Given the description of an element on the screen output the (x, y) to click on. 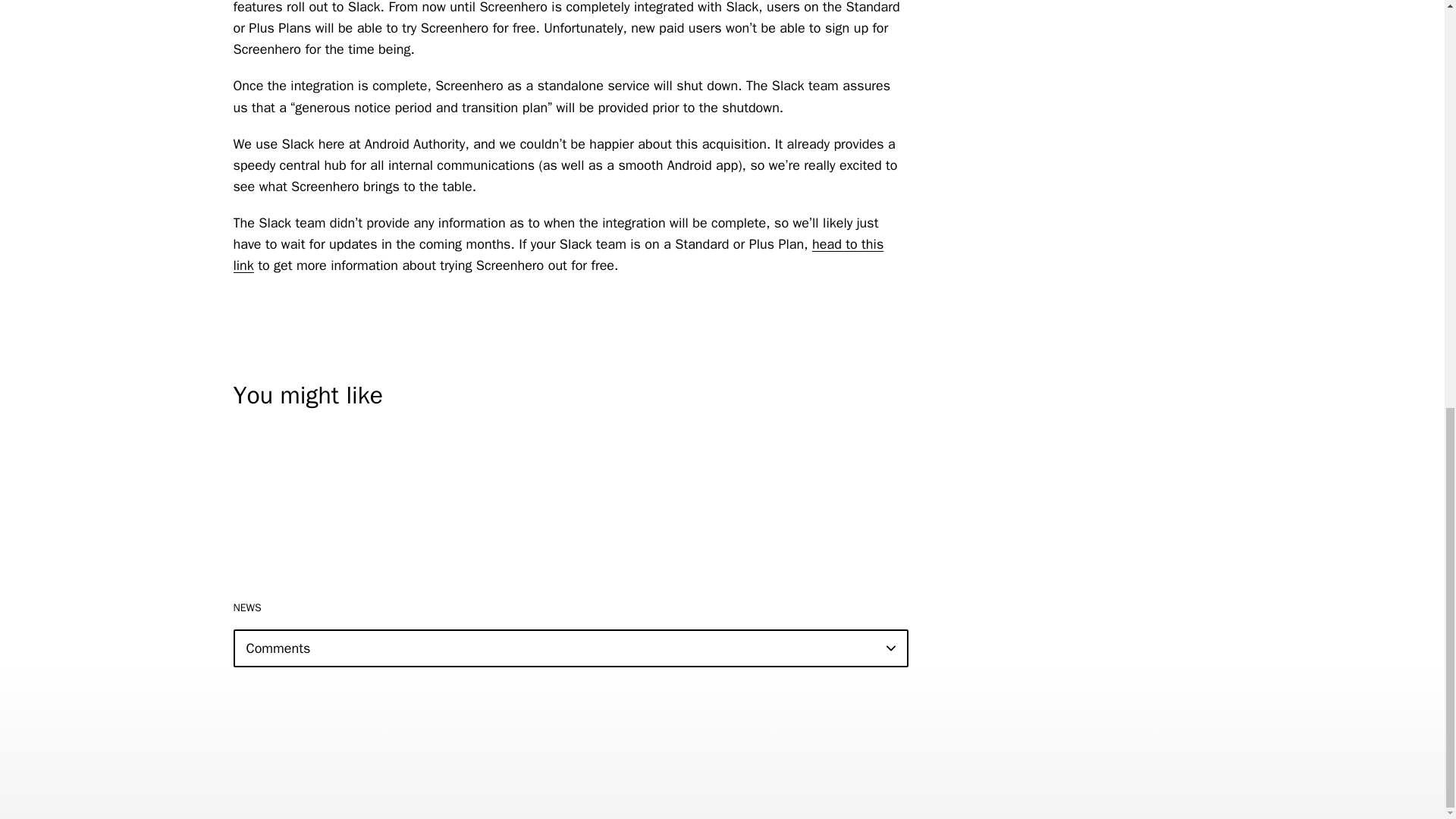
Comments (570, 648)
NEWS (247, 607)
head to this link (557, 254)
